Given the description of an element on the screen output the (x, y) to click on. 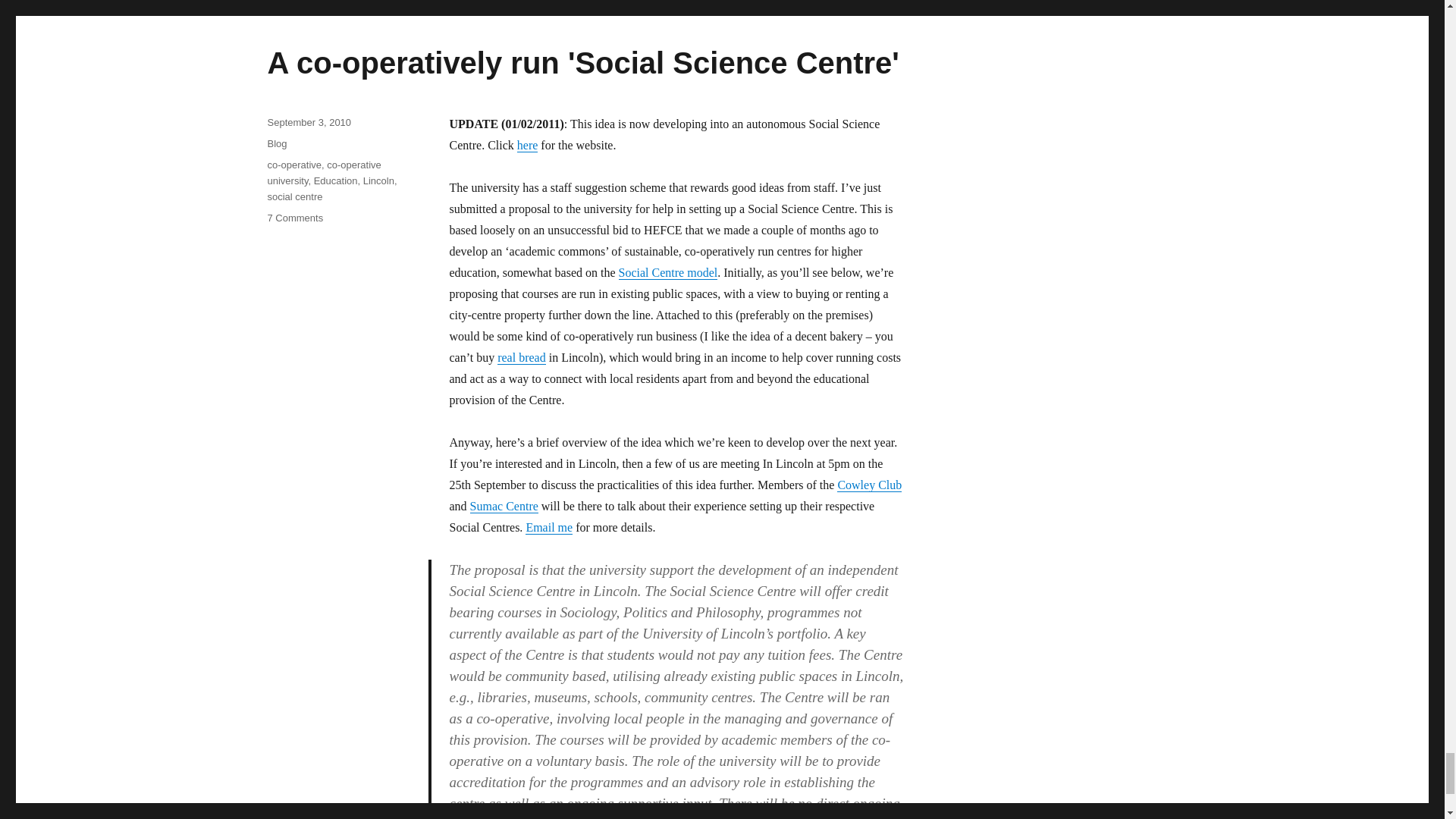
Sumac Centre (504, 505)
Social Centre Stories (667, 272)
Cowley Club (869, 484)
Real Bread Campaign (521, 357)
